Given the description of an element on the screen output the (x, y) to click on. 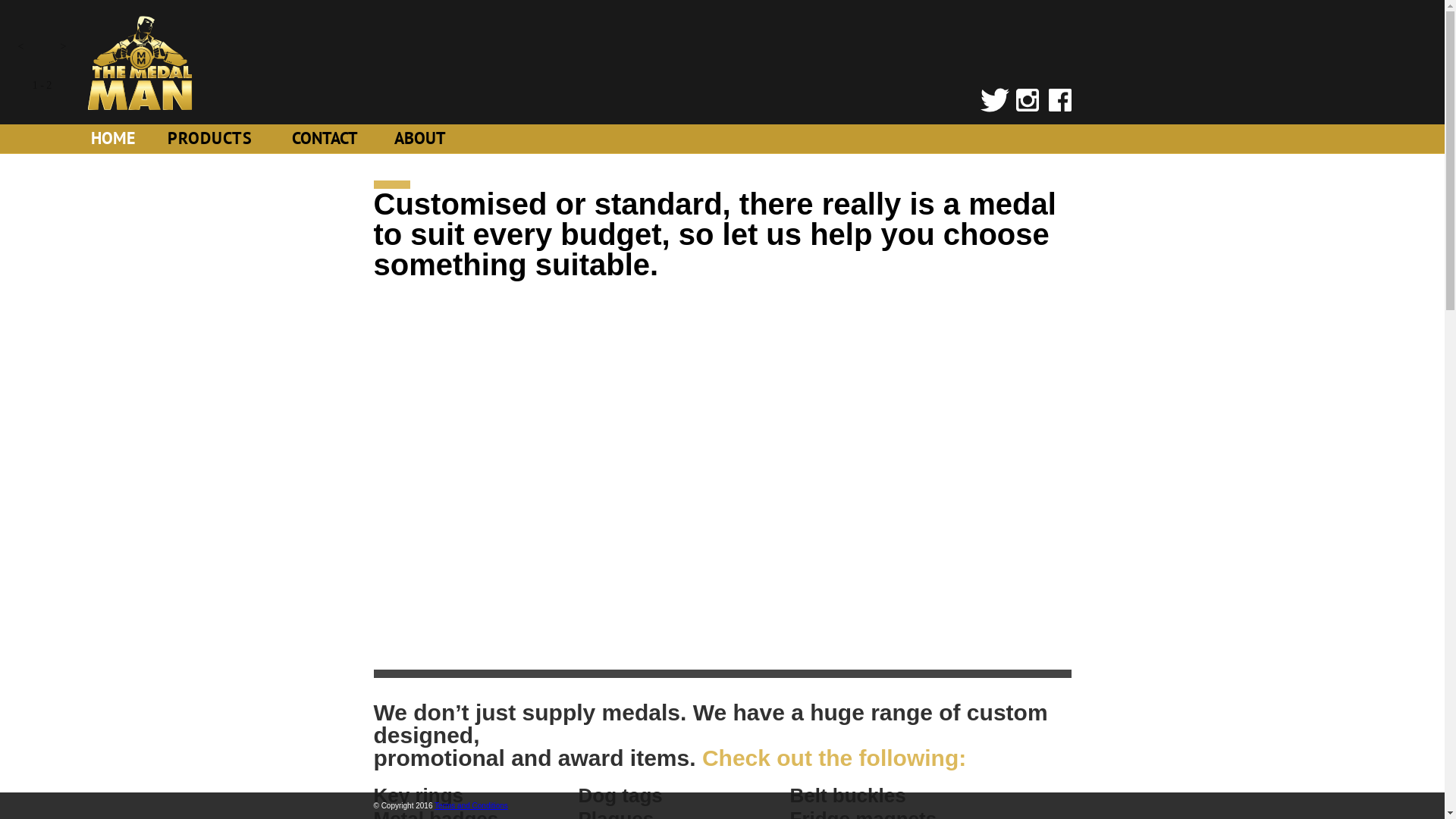
HOME Element type: text (119, 144)
PRODUCTS Element type: text (221, 144)
ABOUT Element type: text (421, 144)
Terms and Conditions Element type: text (471, 805)
CONTACT Element type: text (327, 144)
